Given the description of an element on the screen output the (x, y) to click on. 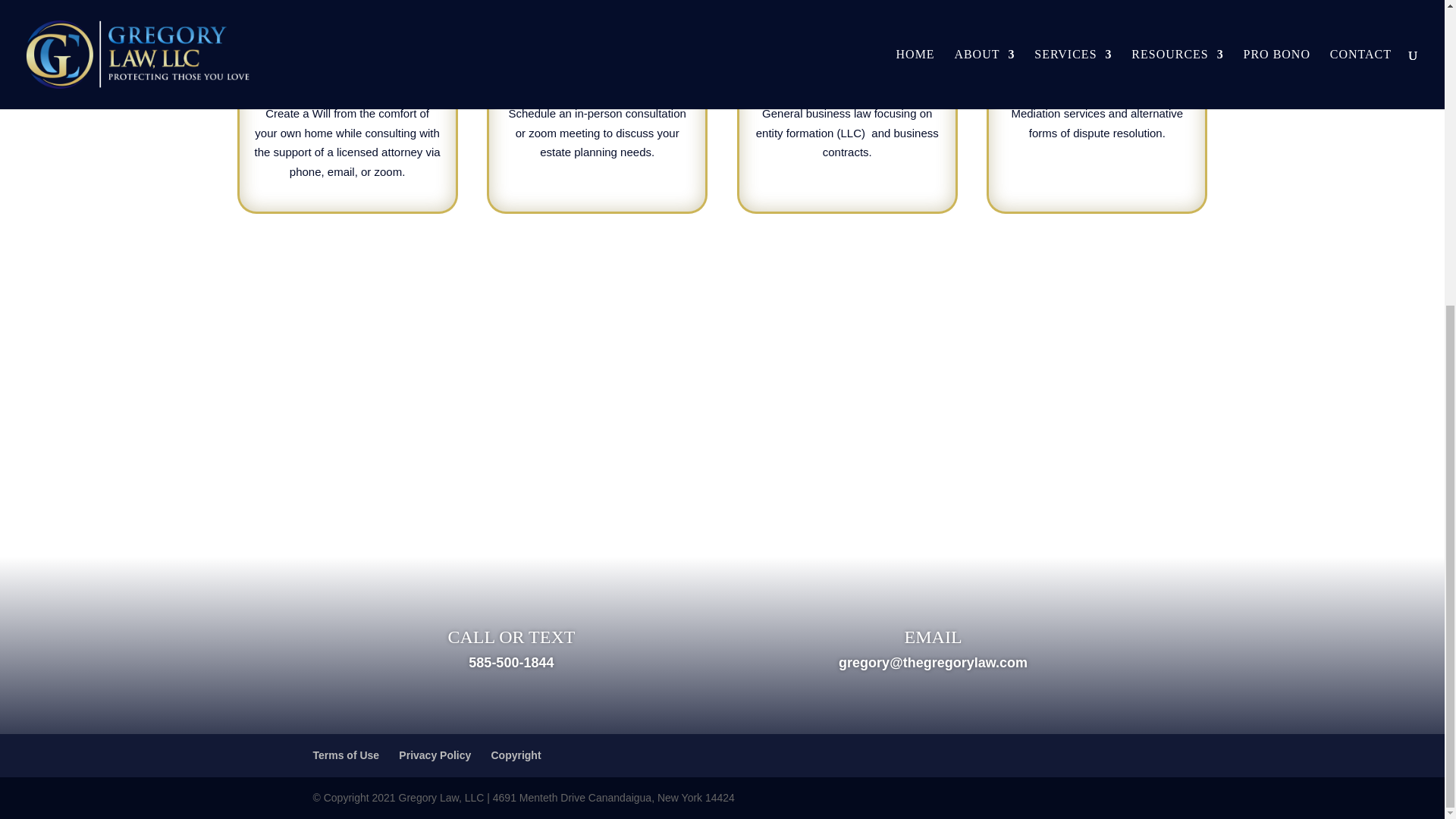
Terms of Use (345, 755)
Copyright (515, 755)
Privacy Policy (434, 755)
